Given the description of an element on the screen output the (x, y) to click on. 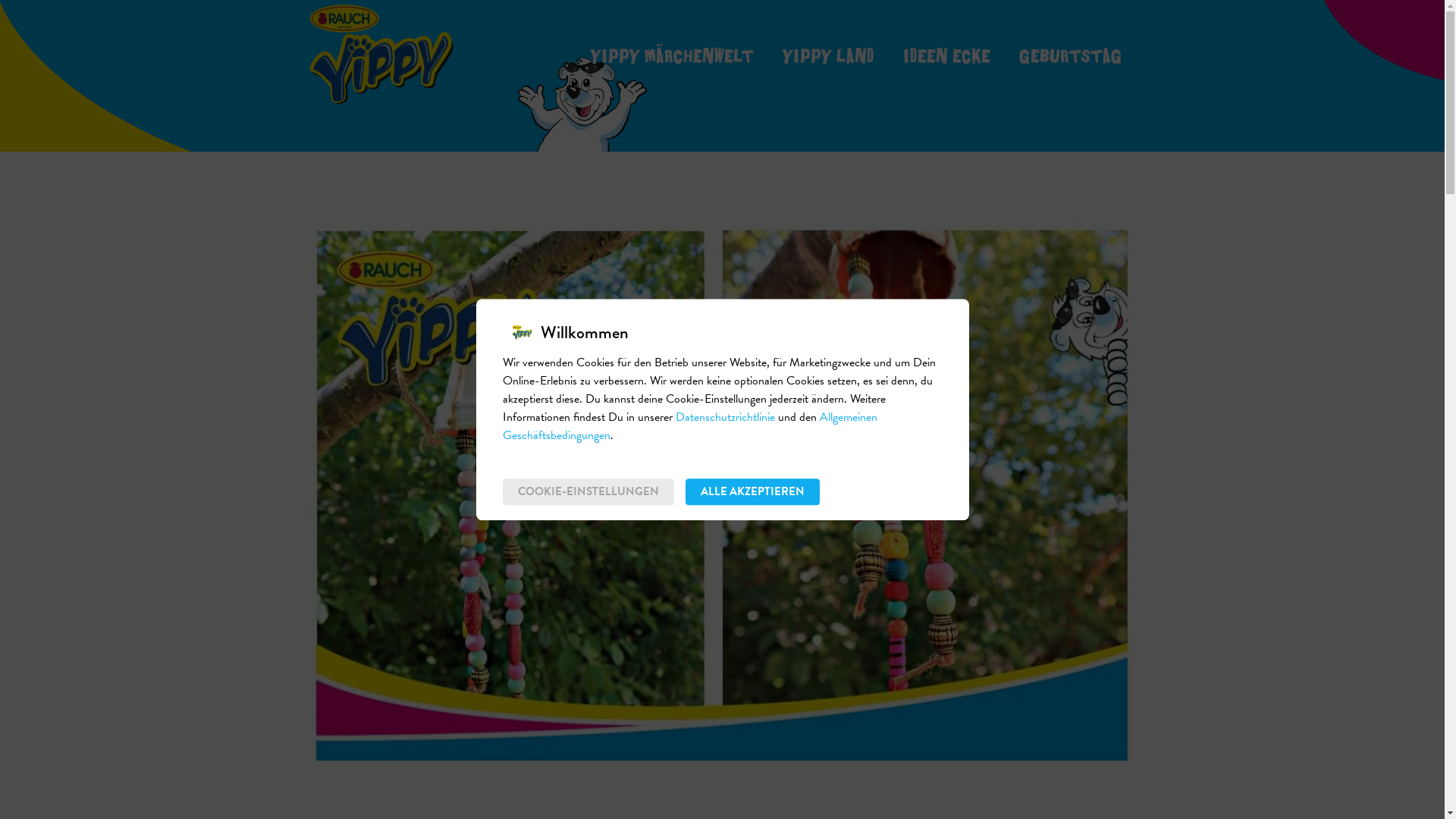
IDEEN ECKE Element type: text (945, 53)
GEBURTSTAG Element type: text (1070, 53)
Home Element type: hover (381, 54)
YIPPY LAND Element type: text (828, 53)
Datenschutzrichtlinie Element type: text (724, 416)
